Given the description of an element on the screen output the (x, y) to click on. 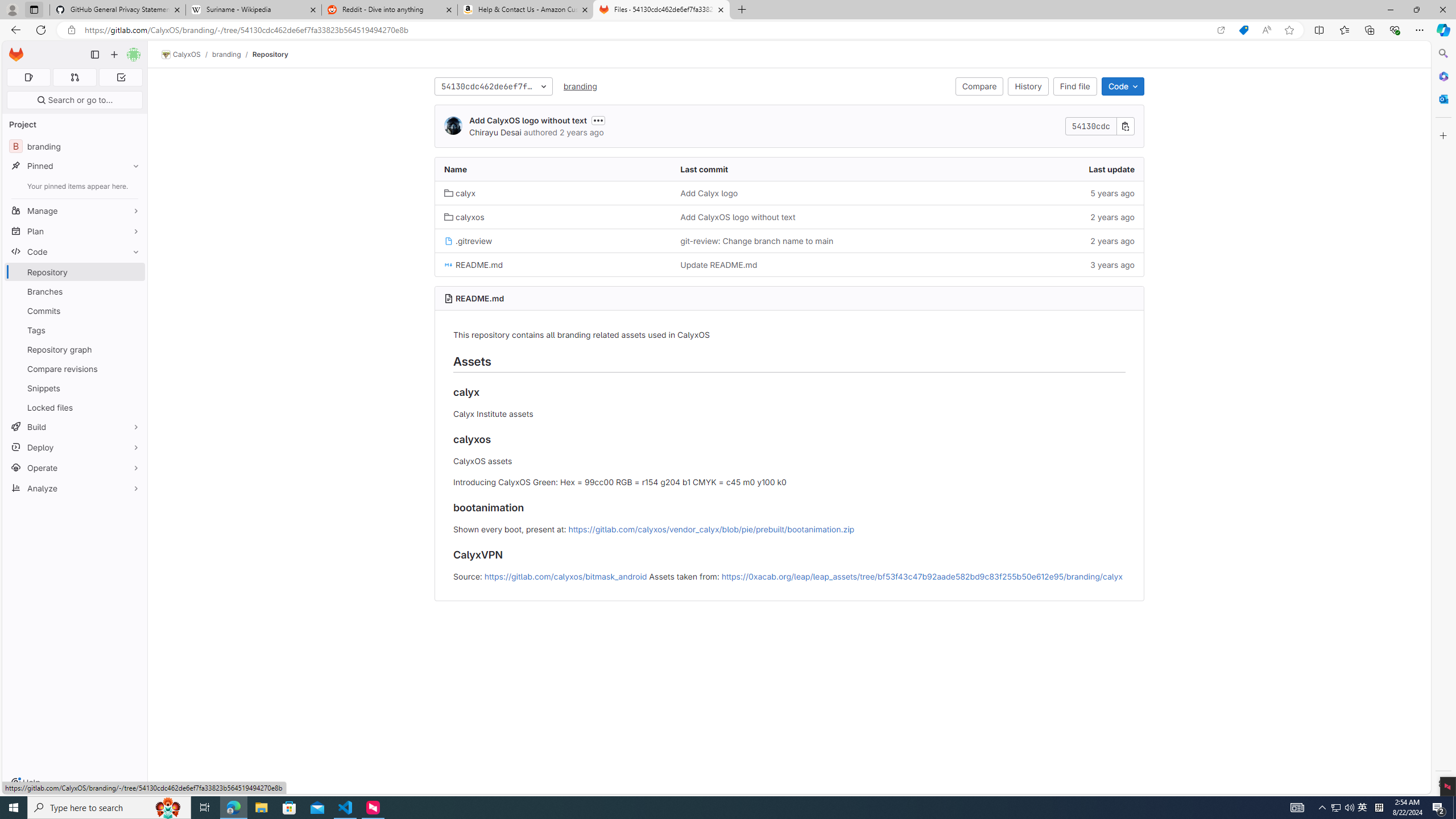
Compare revisions (74, 368)
calyx (460, 192)
https://gitlab.com/calyxos/bitmask_android (565, 575)
Pin Locked files (132, 407)
Pin Commits (132, 310)
git-review: Change branch name to main (756, 240)
Add Calyx logo (708, 192)
Operate (74, 467)
Deploy (74, 447)
Last update (1025, 169)
